Given the description of an element on the screen output the (x, y) to click on. 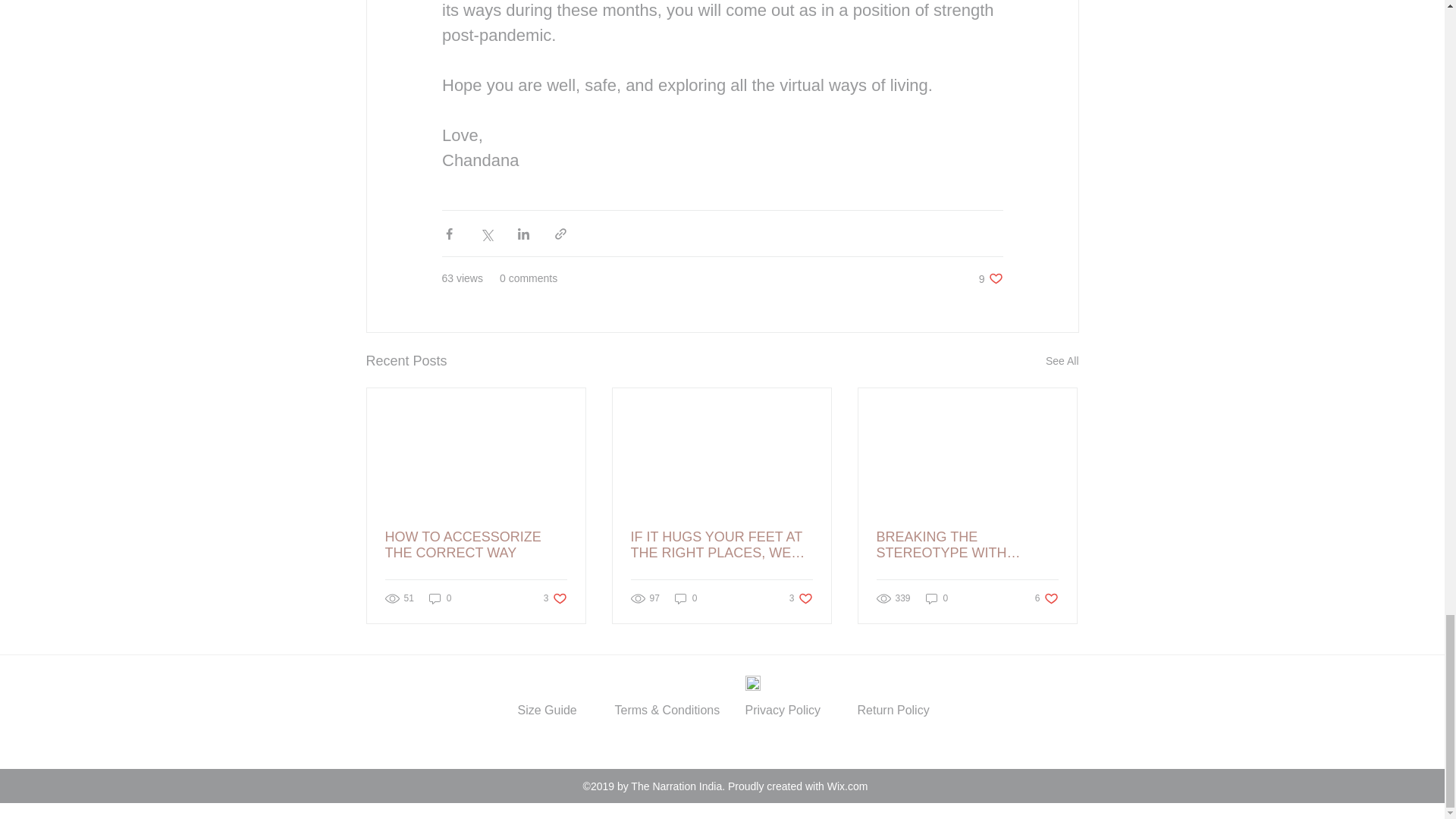
0 (800, 598)
0 (555, 598)
See All (1046, 598)
Size Guide (440, 598)
HOW TO ACCESSORIZE THE CORRECT WAY (685, 598)
0 (1061, 361)
